Given the description of an element on the screen output the (x, y) to click on. 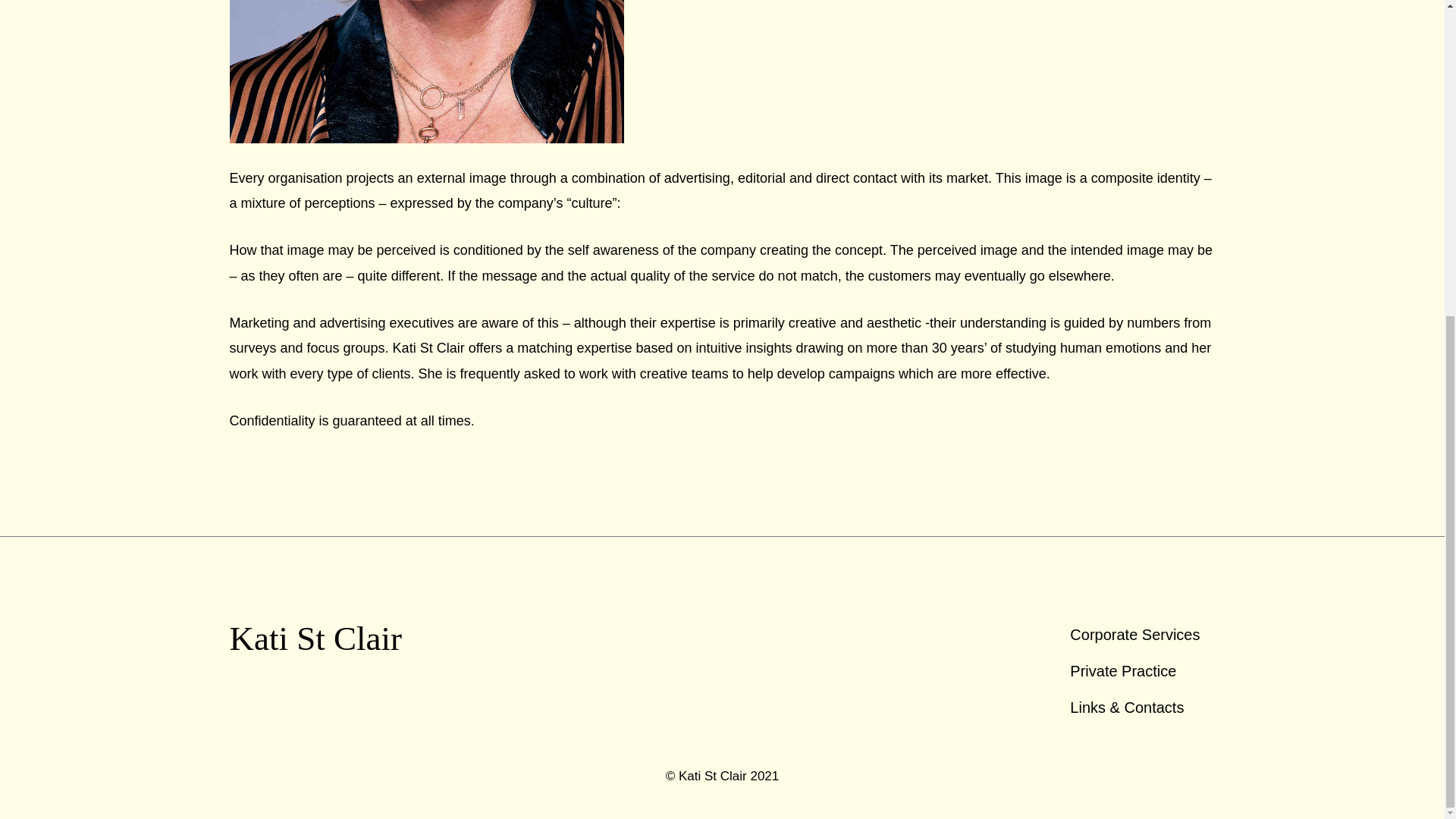
Kati St Clair (314, 638)
Private Practice (1134, 670)
Corporate Services (1134, 634)
